Given the description of an element on the screen output the (x, y) to click on. 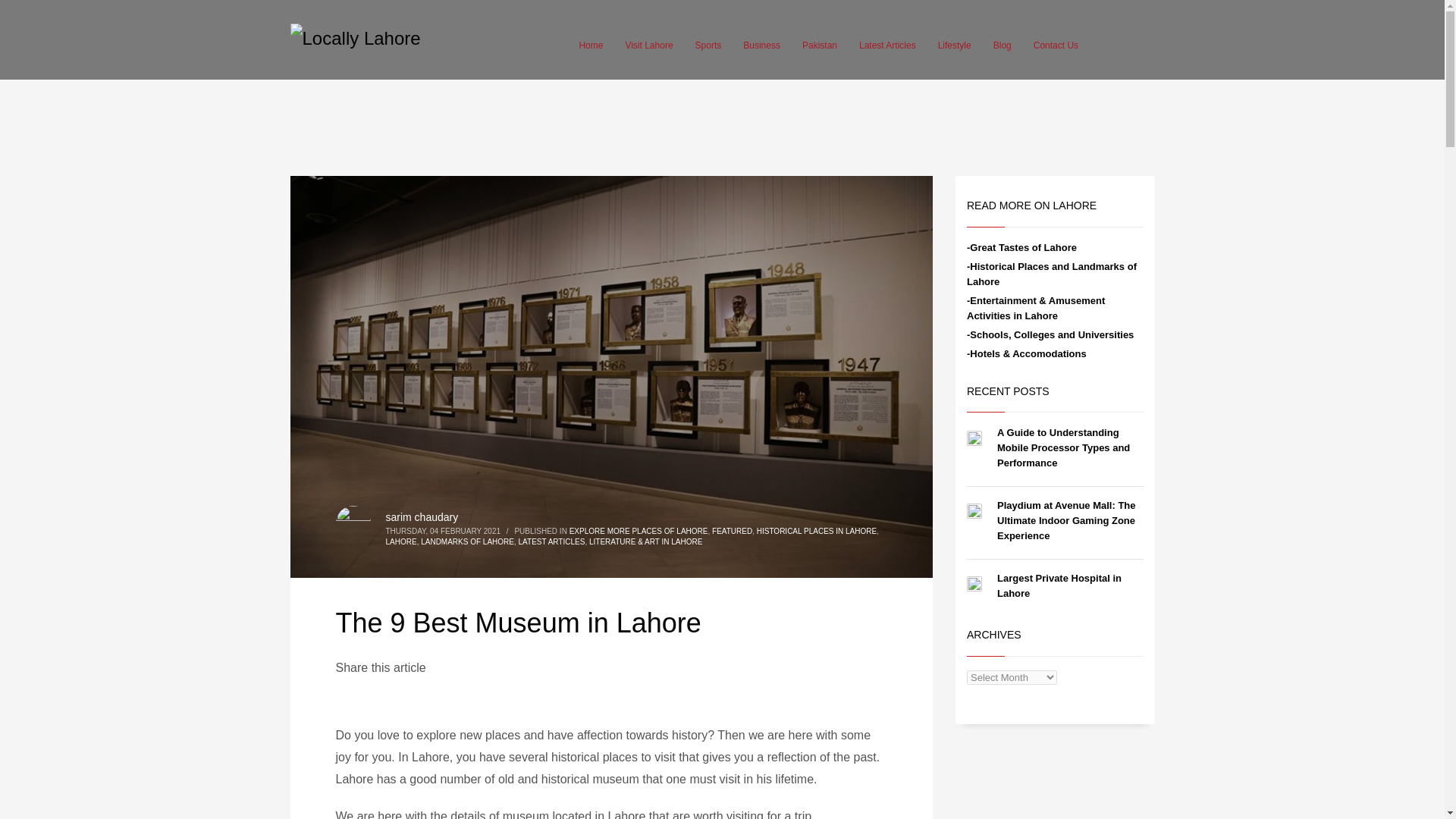
Largest Private Hospital in Lahore (1059, 585)
Home (590, 44)
Latest Articles (887, 44)
Blog (1002, 44)
Business (761, 44)
Sports (707, 44)
